Given the description of an element on the screen output the (x, y) to click on. 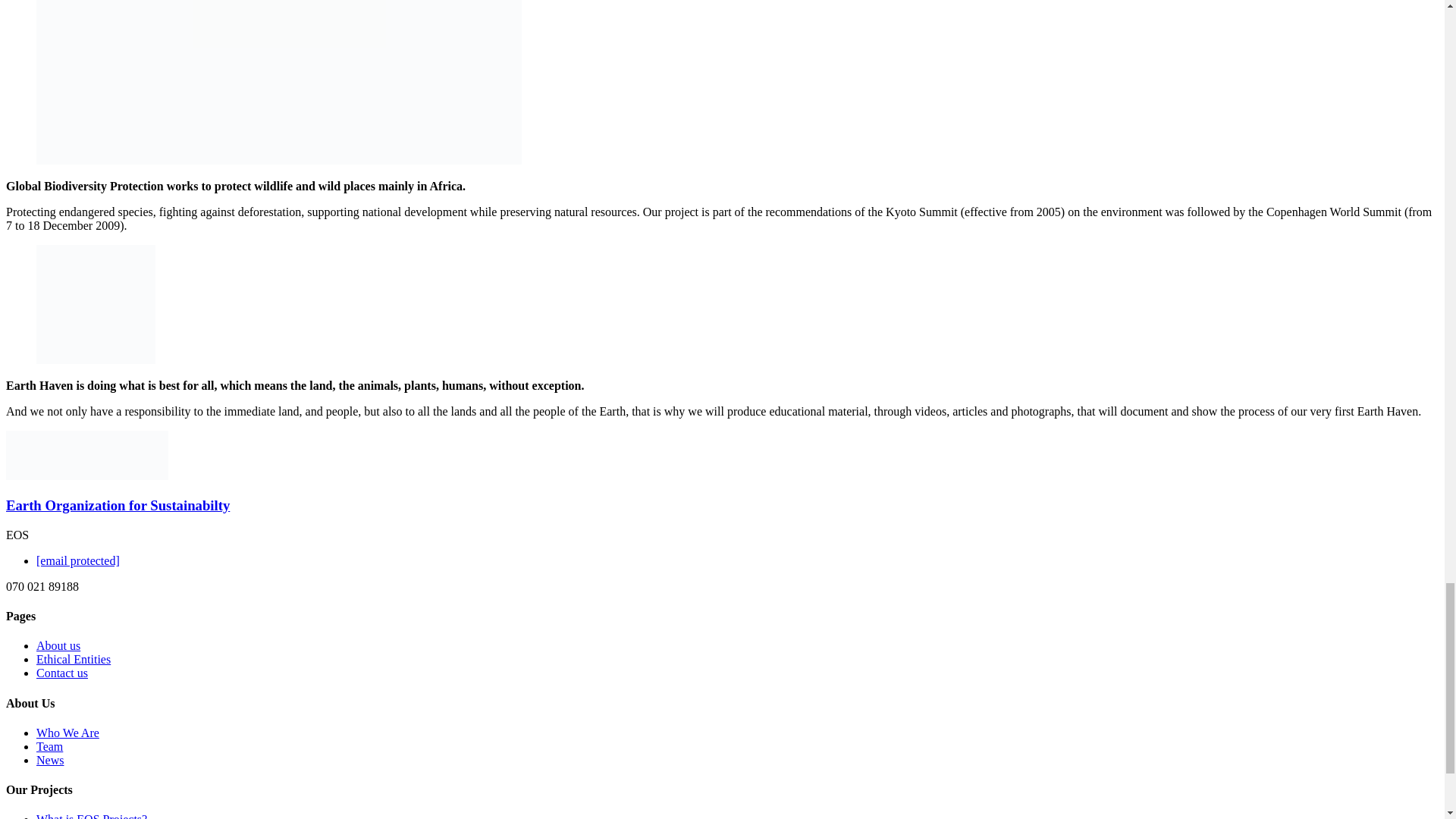
Contact us (61, 672)
What is EOS Projects? (91, 816)
Ethical Entities (73, 658)
Team (49, 746)
About us (58, 645)
Earth Organization for Sustainabilty (117, 505)
Who We Are (67, 732)
Earth Organization for Sustainabilty (127, 475)
Earth Organization for Sustainabilty (117, 505)
News (50, 759)
Earth Organization for Sustainabilty (46, 475)
